Given the description of an element on the screen output the (x, y) to click on. 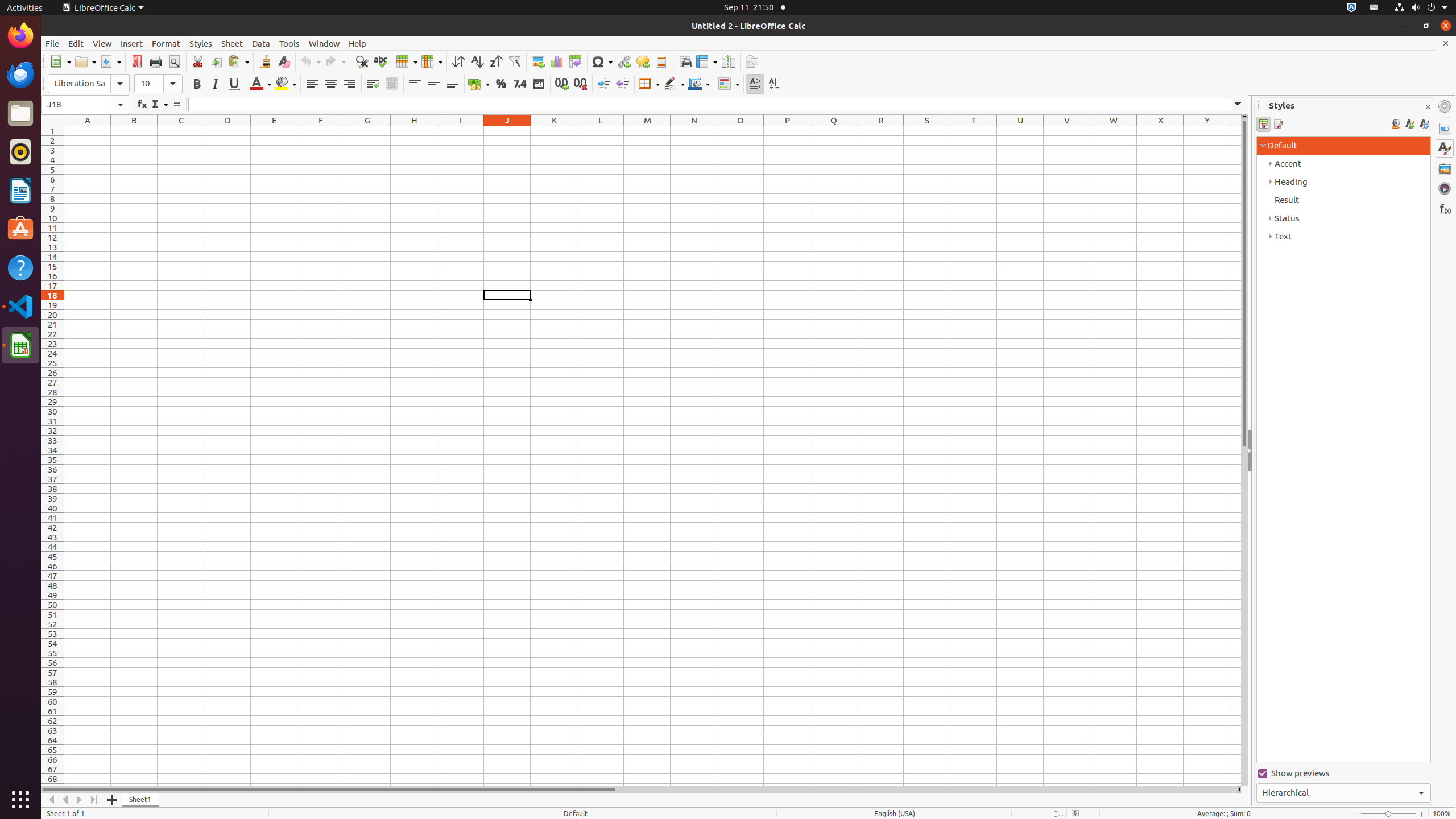
P1 Element type: table-cell (786, 130)
New Element type: push-button (59, 61)
Pivot Table Element type: push-button (574, 61)
Formatting Element type: tool-bar (412, 83)
AutoFilter Element type: push-button (514, 61)
